Given the description of an element on the screen output the (x, y) to click on. 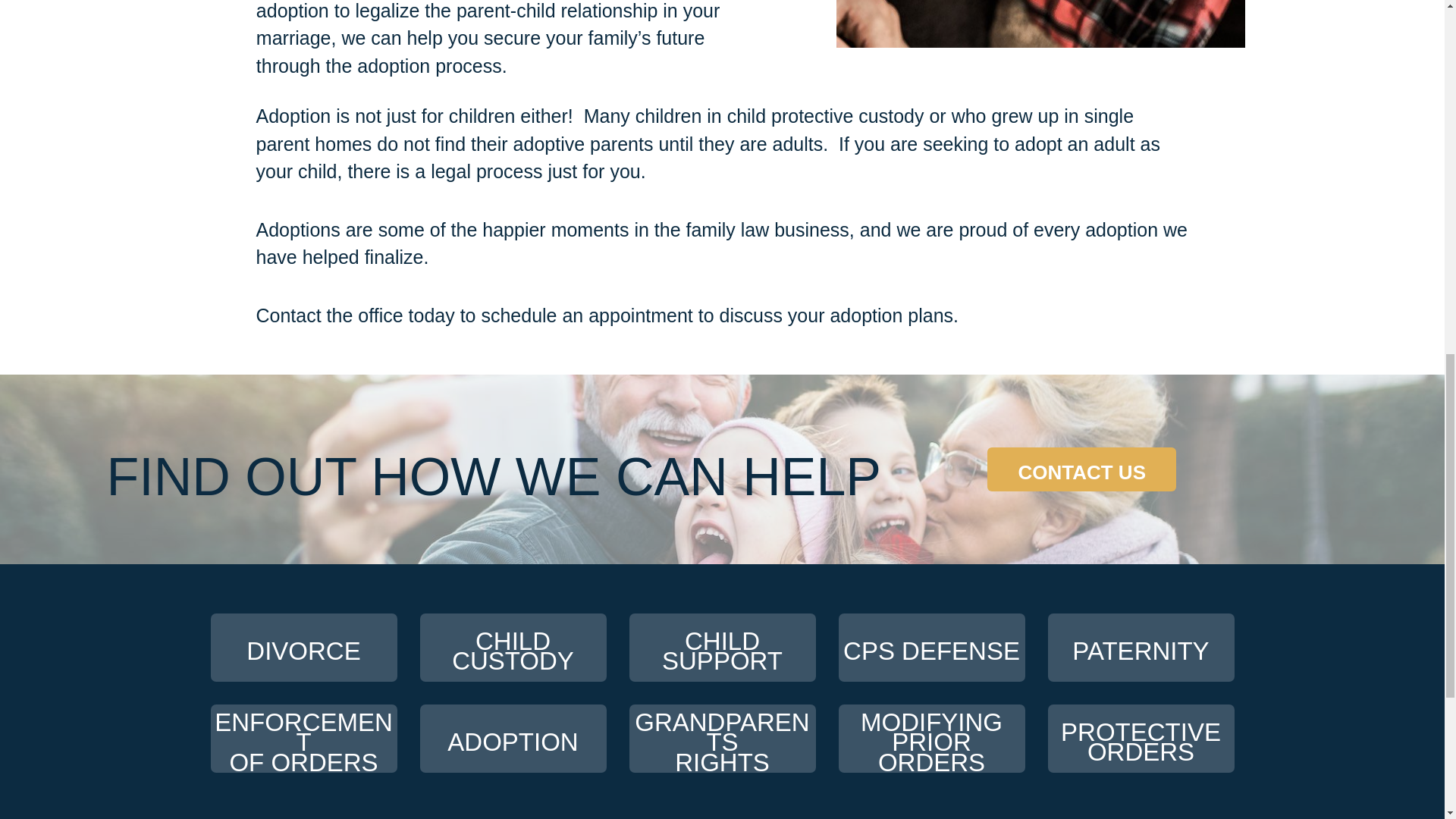
DIVORCE (304, 647)
PATERNITY (1141, 647)
CHILD SUPPORT (304, 738)
CONTACT US (721, 647)
CHILD CUSTODY (1081, 469)
Adoption 1 (513, 647)
CPS DEFENSE (1039, 23)
ADOPTION (931, 738)
